Given the description of an element on the screen output the (x, y) to click on. 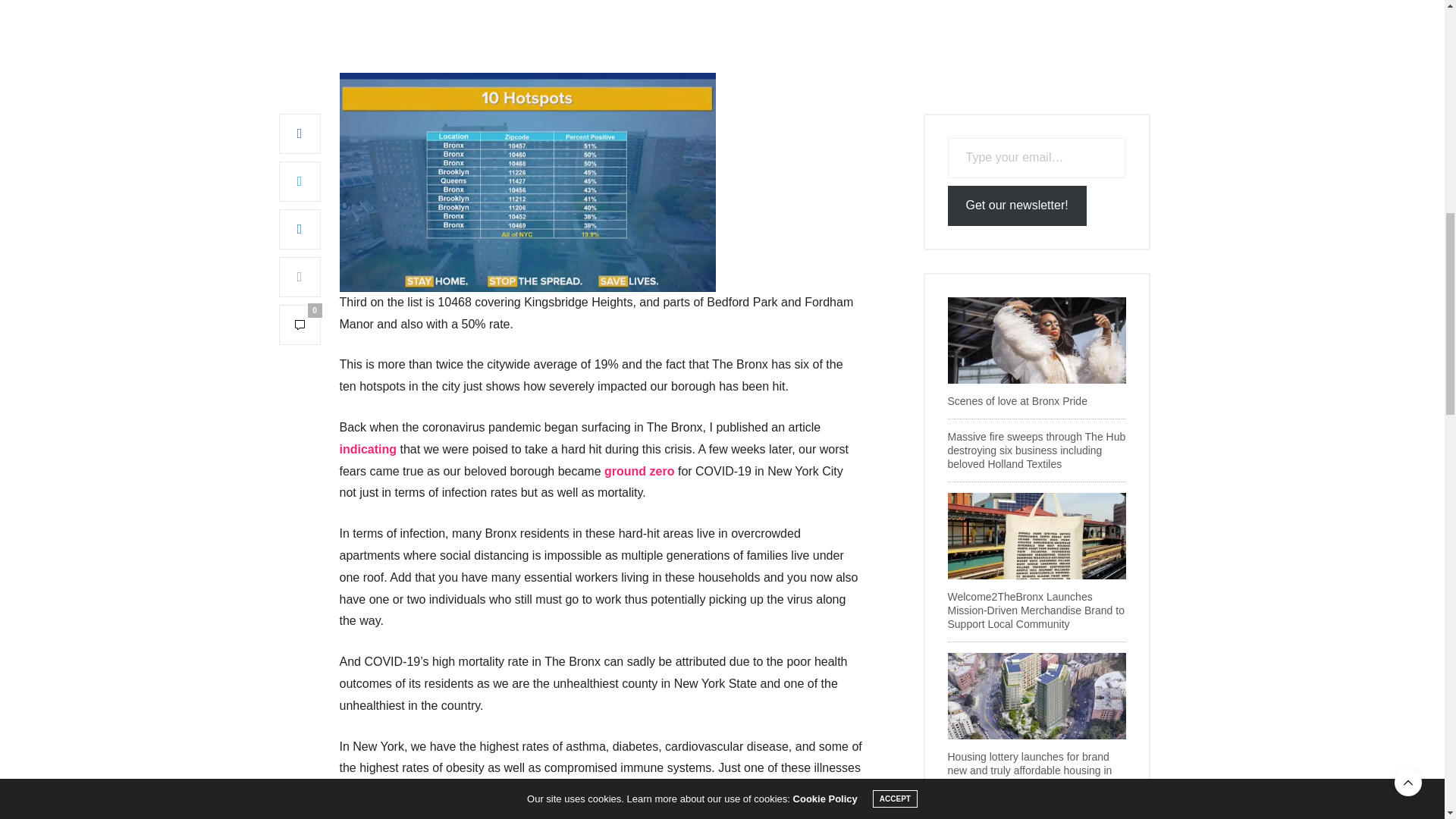
Advertisement (601, 36)
